Given the description of an element on the screen output the (x, y) to click on. 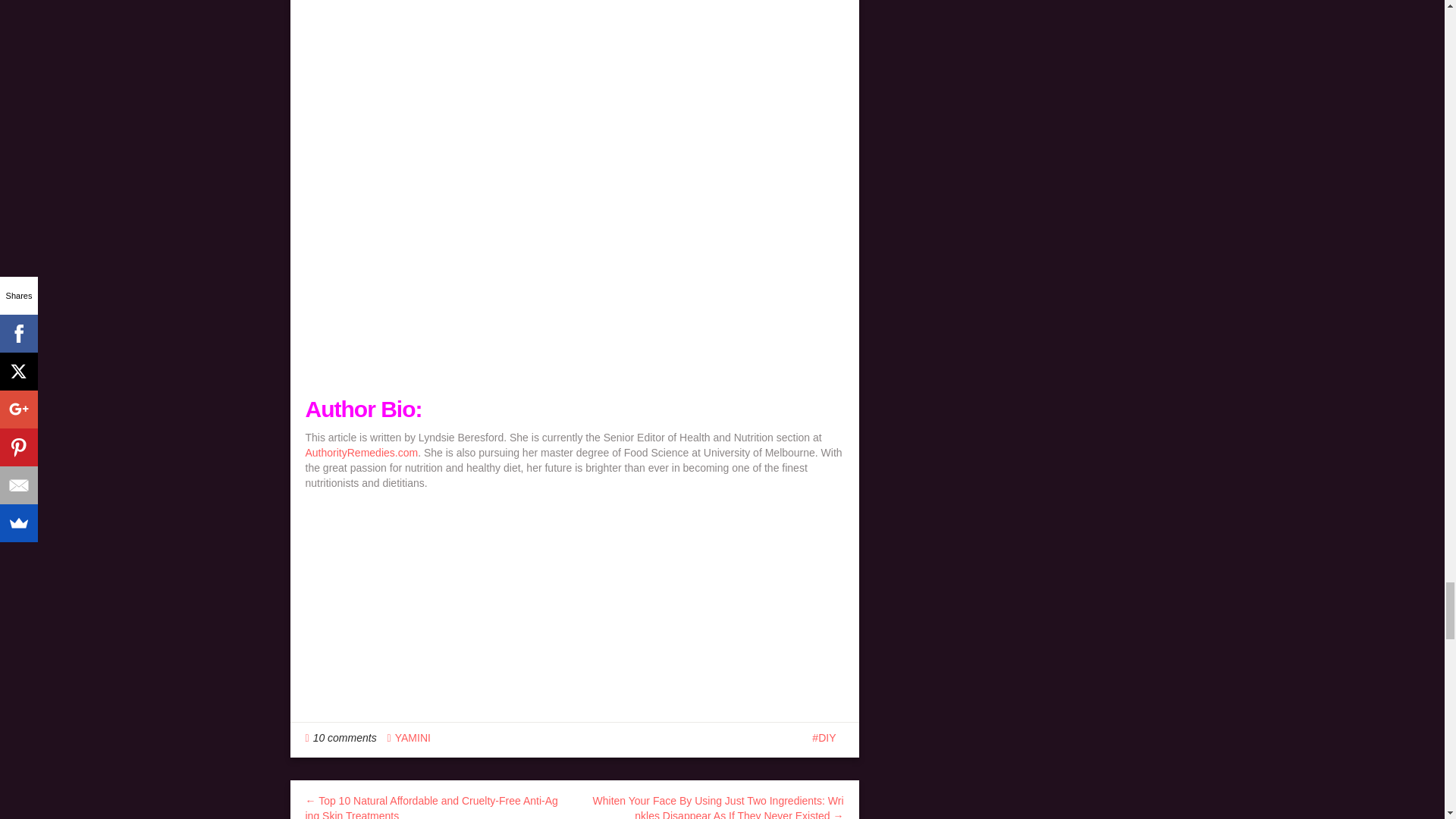
Posts by YAMINI (412, 737)
